Given the description of an element on the screen output the (x, y) to click on. 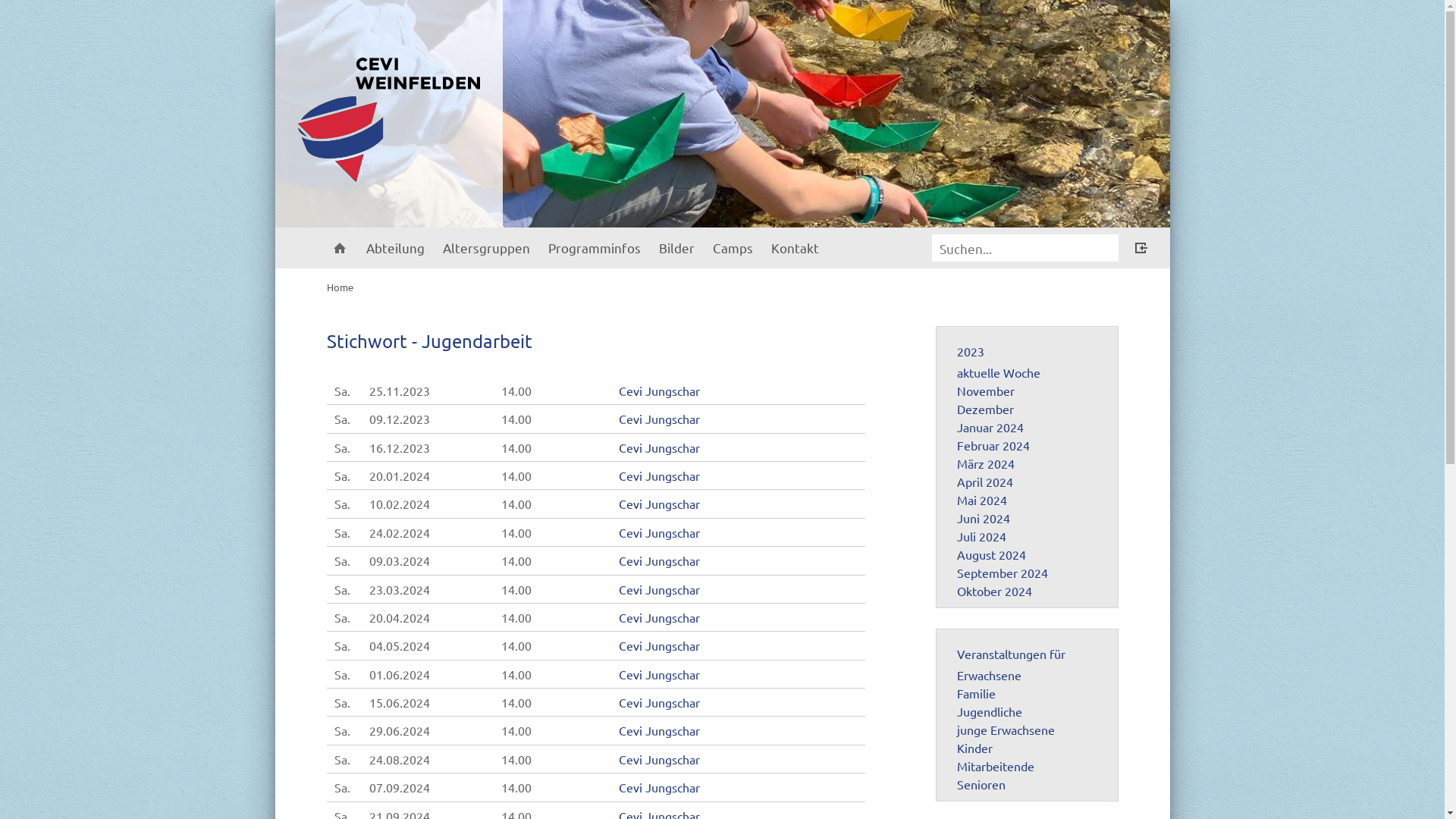
Sa. Element type: text (341, 447)
Februar 2024 Element type: text (993, 444)
Sa. Element type: text (341, 644)
Cevi Jungschar Element type: text (658, 588)
07.09.2024 Element type: text (399, 786)
Sa. Element type: text (341, 390)
14.00 Element type: text (515, 588)
Cevi Jungschar Element type: text (658, 503)
Cevi Jungschar Element type: text (658, 701)
Jugendliche Element type: text (989, 710)
Familie Element type: text (976, 692)
20.01.2024 Element type: text (399, 475)
Sa. Element type: text (341, 531)
01.06.2024 Element type: text (399, 673)
Sa. Element type: text (341, 588)
November Element type: text (985, 390)
September 2024 Element type: text (1002, 572)
16.12.2023 Element type: text (399, 447)
August 2024 Element type: text (991, 553)
Mitarbeitende Element type: text (995, 765)
Sa. Element type: text (341, 475)
04.05.2024 Element type: text (399, 644)
24.02.2024 Element type: text (399, 531)
14.00 Element type: text (515, 644)
20.04.2024 Element type: text (399, 616)
14.00 Element type: text (515, 447)
Cevi Jungschar Element type: text (658, 786)
Oktober 2024 Element type: text (994, 590)
Juni 2024 Element type: text (983, 517)
Cevi Jungschar Element type: text (658, 475)
14.00 Element type: text (515, 701)
Cevi Jungschar Element type: text (658, 758)
Sa. Element type: text (341, 786)
14.00 Element type: text (515, 475)
14.00 Element type: text (515, 503)
15.06.2024 Element type: text (399, 701)
25.11.2023 Element type: text (399, 390)
Sa. Element type: text (341, 729)
14.00 Element type: text (515, 758)
Altersgruppen Element type: text (486, 247)
Sa. Element type: text (341, 616)
Januar 2024 Element type: text (990, 426)
Cevi Jungschar Element type: text (658, 418)
Sa. Element type: text (341, 673)
Dezember Element type: text (985, 408)
Home Element type: text (339, 286)
14.00 Element type: text (515, 729)
24.08.2024 Element type: text (399, 758)
Erwachsene Element type: text (989, 674)
Cevi Jungschar Element type: text (658, 729)
14.00 Element type: text (515, 418)
14.00 Element type: text (515, 786)
Sa. Element type: text (341, 418)
April 2024 Element type: text (985, 481)
Kontakt Element type: text (794, 247)
Programminfos Element type: text (593, 247)
10.02.2024 Element type: text (399, 503)
Cevi Jungschar Element type: text (658, 673)
09.12.2023 Element type: text (399, 418)
Kinder Element type: text (974, 747)
Cevi Jungschar Element type: text (658, 644)
29.06.2024 Element type: text (399, 729)
junge Erwachsene Element type: text (1005, 729)
23.03.2024 Element type: text (399, 588)
Cevi Jungschar Element type: text (658, 531)
Home Element type: hover (338, 247)
14.00 Element type: text (515, 673)
14.00 Element type: text (515, 390)
14.00 Element type: text (515, 559)
Sa. Element type: text (341, 758)
14.00 Element type: text (515, 616)
Sa. Element type: text (341, 701)
Abteilung Element type: text (394, 247)
Mai 2024 Element type: text (982, 499)
Cevi Jungschar Element type: text (658, 447)
Juli 2024 Element type: text (981, 535)
Login Element type: hover (1140, 249)
aktuelle Woche Element type: text (998, 371)
Sa. Element type: text (341, 559)
Senioren Element type: text (981, 783)
Sa. Element type: text (341, 503)
Bilder Element type: text (675, 247)
Cevi Jungschar Element type: text (658, 616)
Cevi Jungschar Element type: text (658, 559)
Cevi Jungschar Element type: text (658, 390)
14.00 Element type: text (515, 531)
09.03.2024 Element type: text (399, 559)
Camps Element type: text (732, 247)
